Given the description of an element on the screen output the (x, y) to click on. 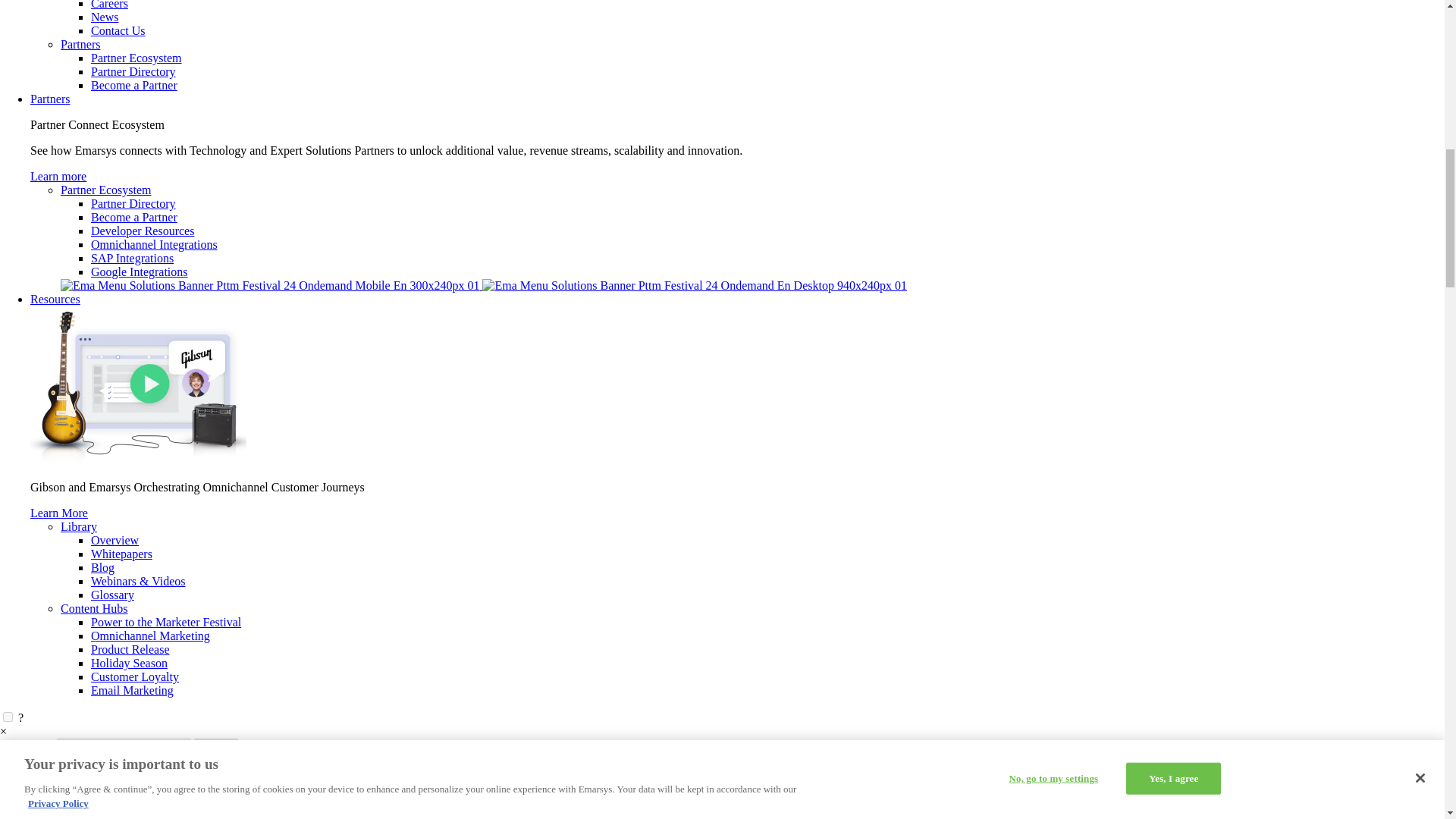
Fr (66, 813)
on (7, 716)
Search (215, 746)
on (7, 716)
Search (215, 746)
En (36, 786)
De (68, 799)
